Given the description of an element on the screen output the (x, y) to click on. 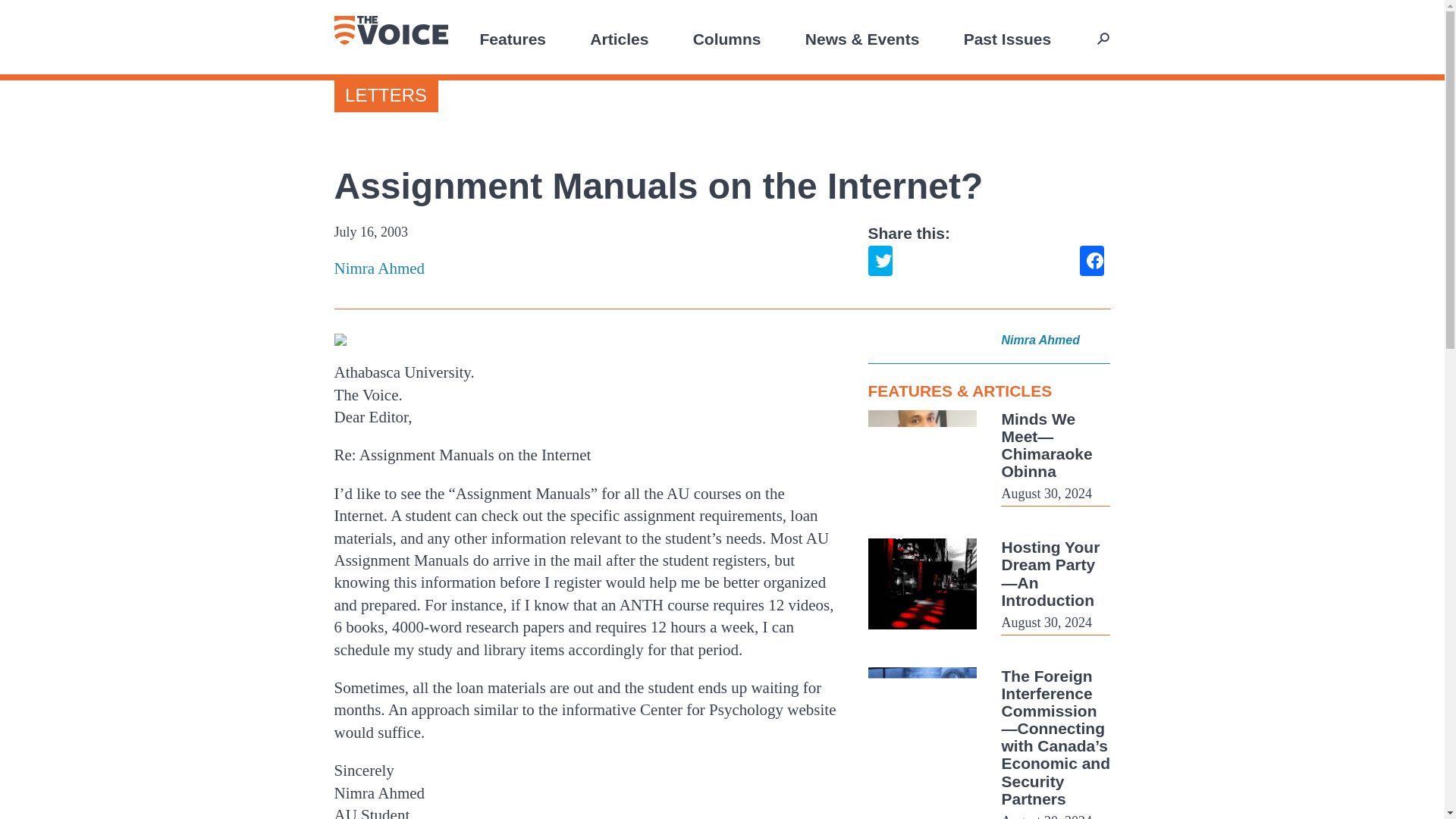
The Voice (389, 30)
Articles (618, 38)
Past Issues (1007, 38)
LETTERS (385, 95)
Columns (727, 38)
Posts by Nimra Ahmed (588, 268)
Nimra Ahmed (588, 268)
Features (512, 38)
